Given the description of an element on the screen output the (x, y) to click on. 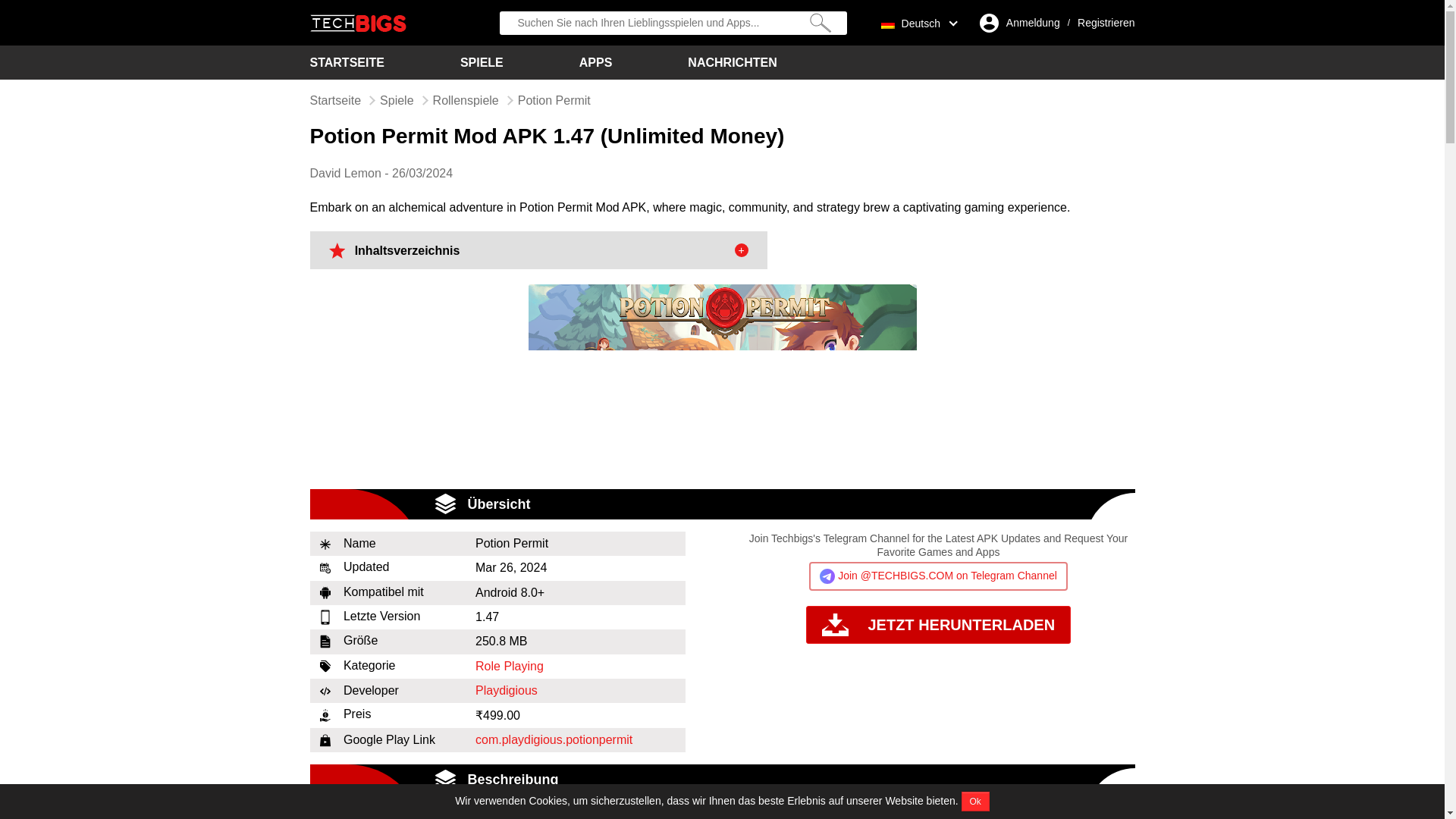
Anmeldung (1032, 23)
STARTSEITE (346, 62)
JETZT HERUNTERLADEN (938, 625)
Rollenspiele (465, 100)
Apps (595, 62)
Role Playing (509, 666)
NACHRICHTEN (731, 62)
Deutsch (914, 22)
Registrieren (1105, 23)
com.playdigious.potionpermit (553, 739)
